Given the description of an element on the screen output the (x, y) to click on. 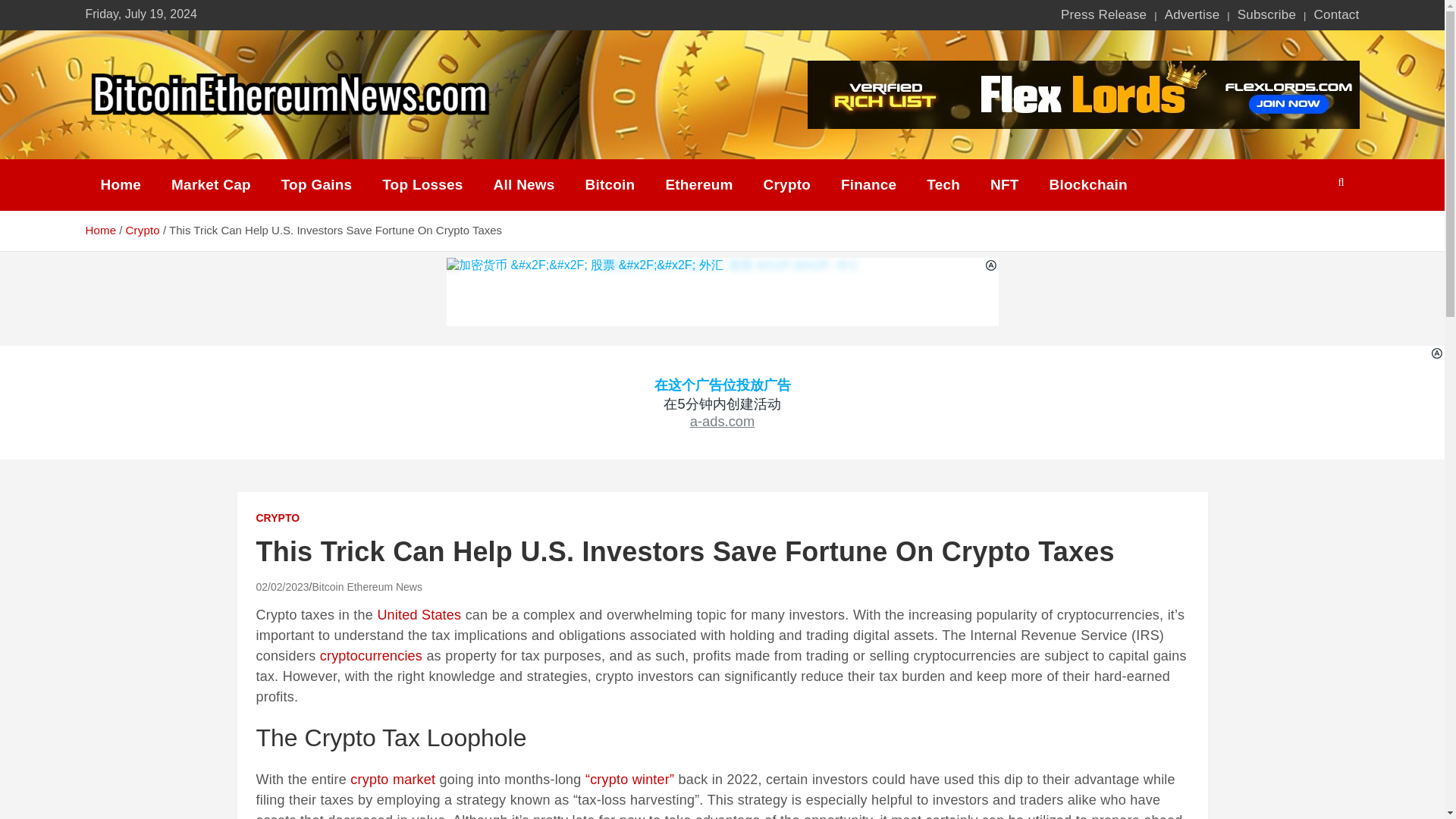
Home (100, 229)
Tech News Articles (943, 184)
Tech (943, 184)
Market Capitalization (210, 184)
NFT (1004, 184)
Finance (868, 184)
Crypto (786, 184)
Top Losses (421, 184)
Contact (1335, 14)
Home (119, 184)
NFT News Articles (1004, 184)
Blockchain News Articles (1087, 184)
Crypto (141, 229)
crypto market (392, 779)
Bitcoin Ethereum News (366, 586)
